Given the description of an element on the screen output the (x, y) to click on. 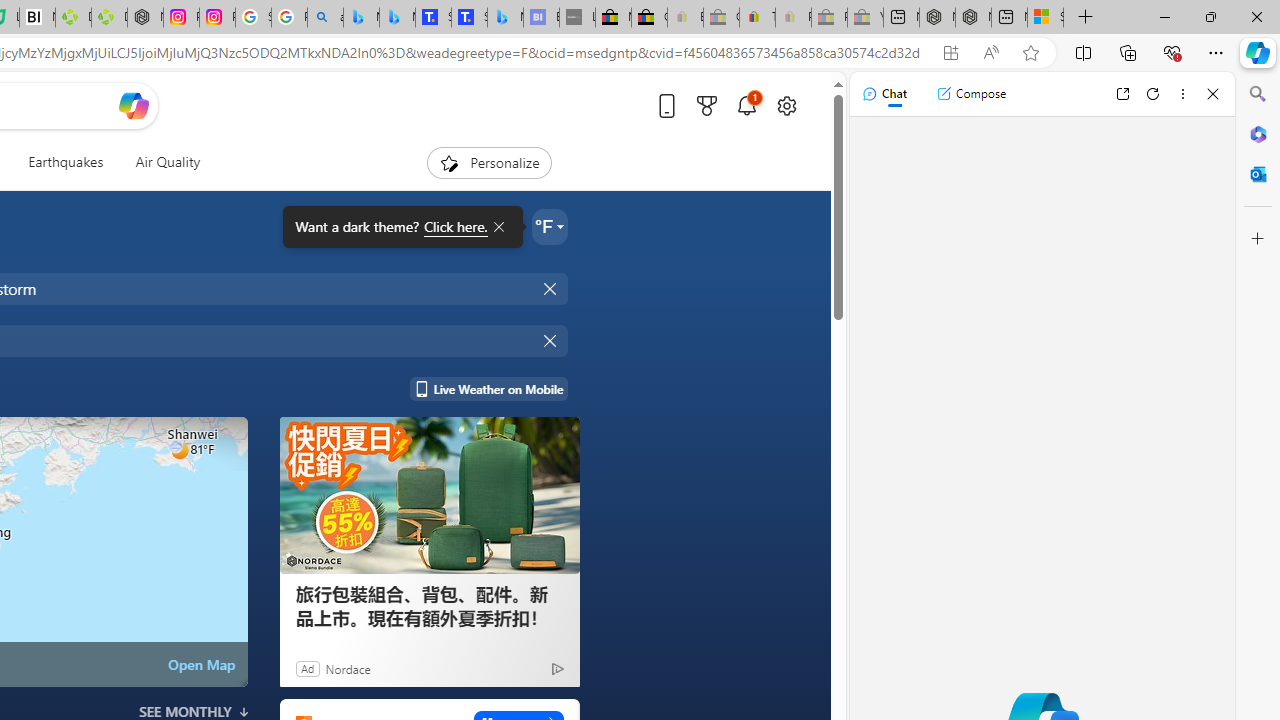
App available. Install Microsoft Start Weather (950, 53)
See Monthly (193, 712)
Air Quality (167, 162)
Weather settings (549, 226)
Microsoft Bing Travel - Shangri-La Hotel Bangkok (505, 17)
Air Quality (159, 162)
